Given the description of an element on the screen output the (x, y) to click on. 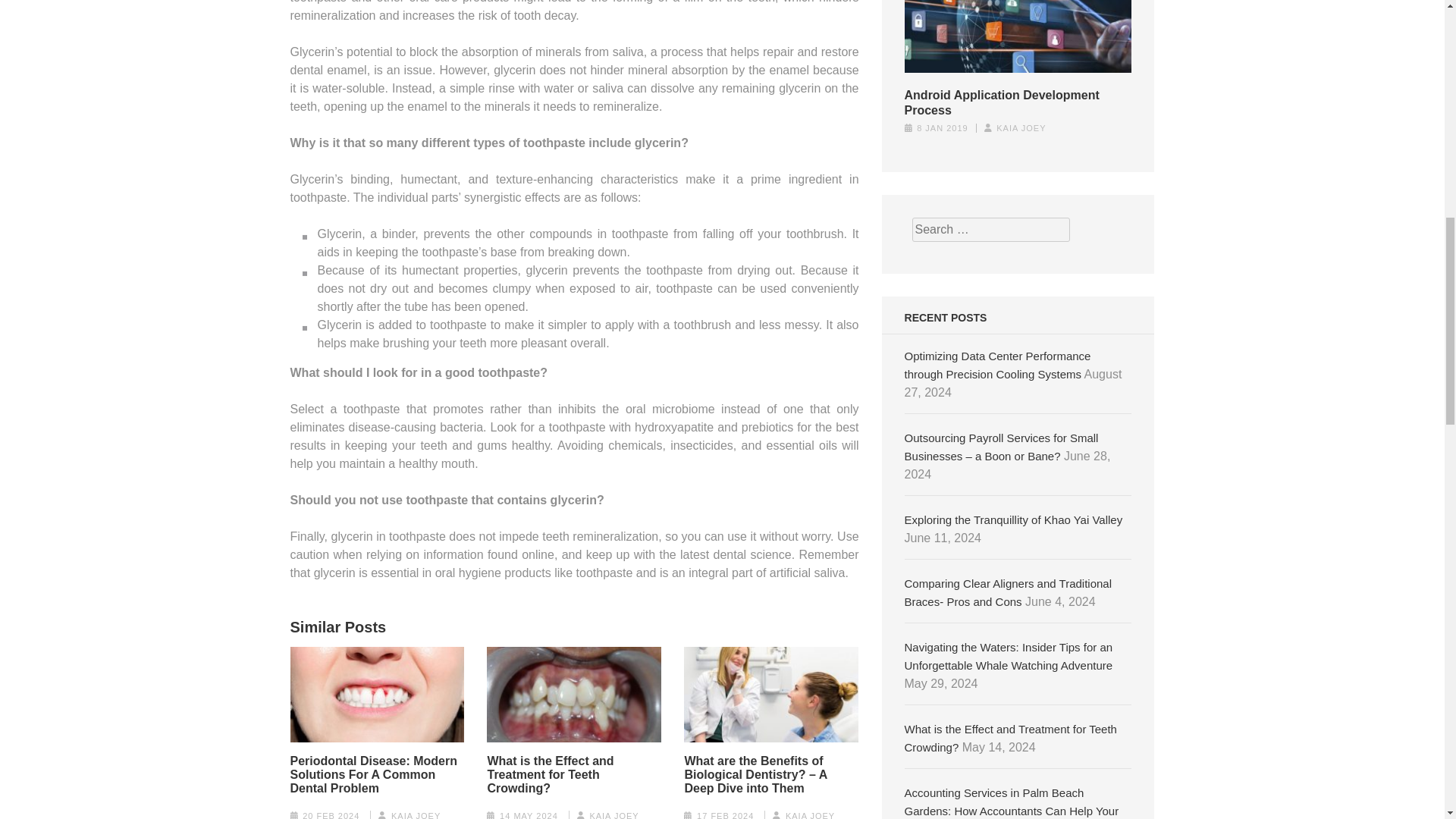
20 FEB 2024 (330, 815)
KAIA JOEY (416, 815)
